Given the description of an element on the screen output the (x, y) to click on. 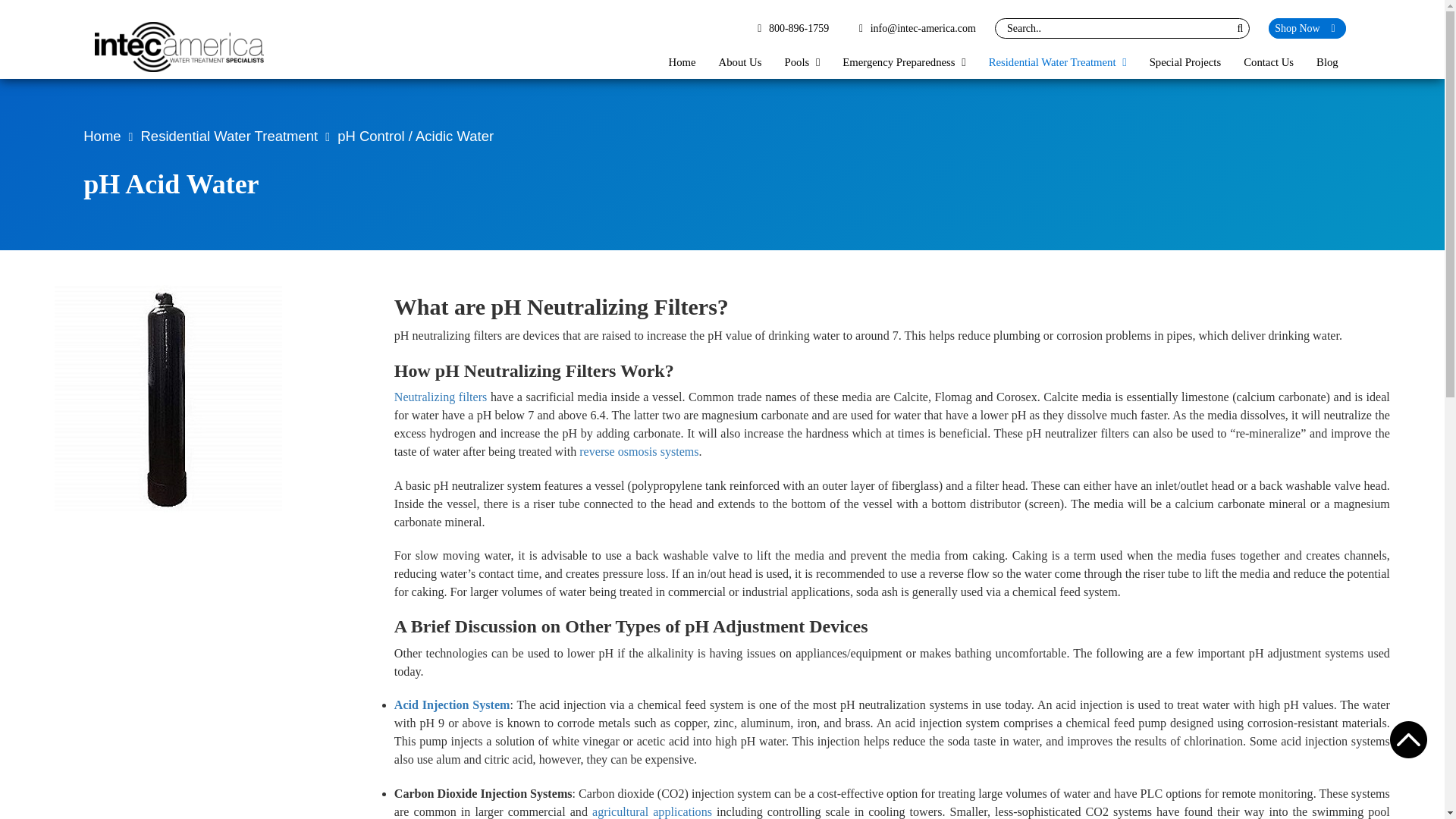
Go to Residential Water Treatment. (229, 136)
Go to Intec America Corporation. (101, 136)
Pools (802, 61)
Emergency Preparedness (903, 61)
About Us (740, 61)
Home (682, 61)
Residential Water Treatment (1057, 61)
Shop Now (1306, 28)
800-896-1759 (786, 28)
Search for: (1120, 27)
